Given the description of an element on the screen output the (x, y) to click on. 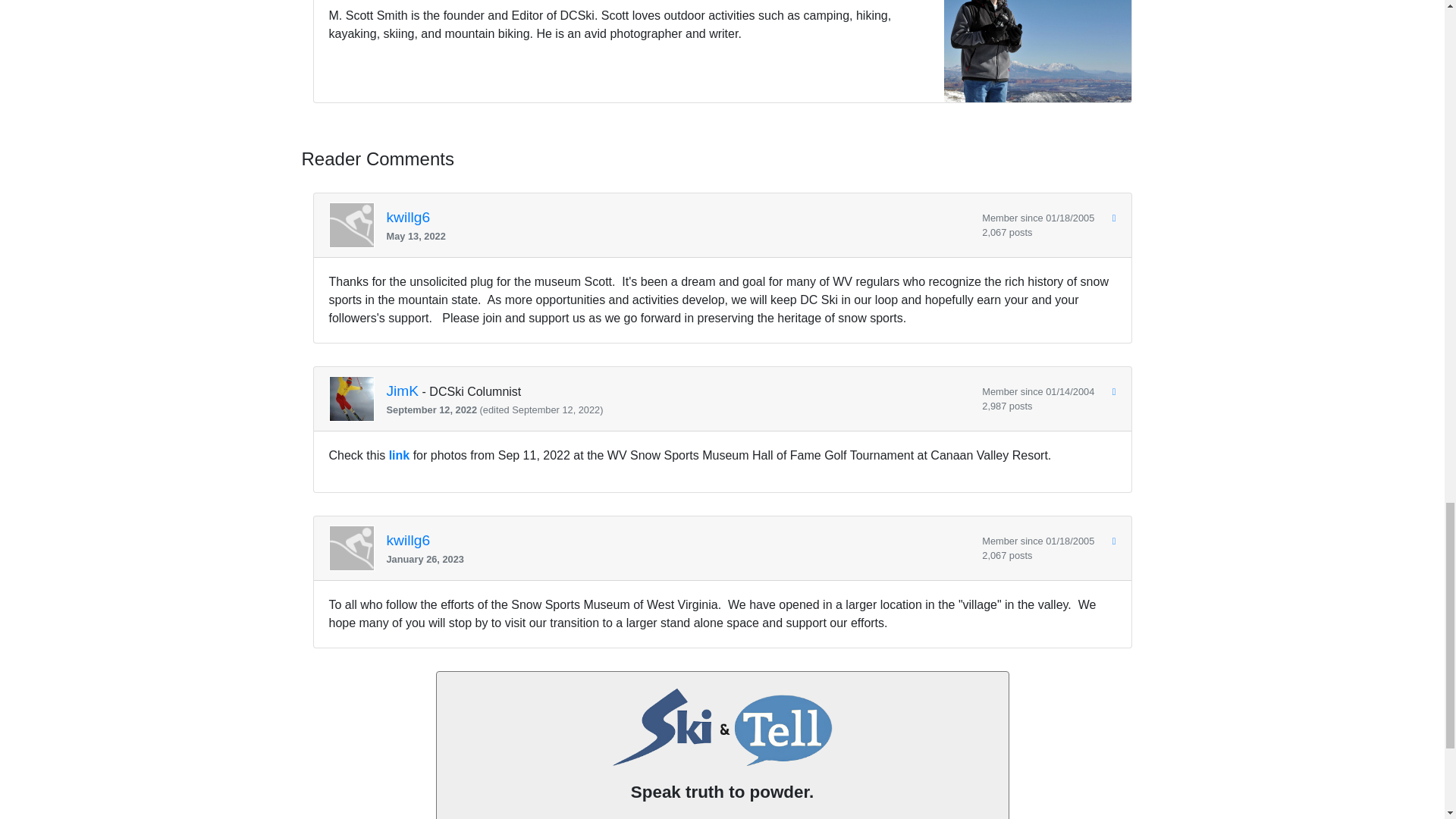
January 26, 2023 at 08:17 pm (679, 559)
kwillg6 (408, 540)
JimK (403, 391)
September 12, 2022 at 09:32 am (679, 409)
May 13, 2022 at 09:41 pm (679, 236)
kwillg6 (408, 217)
link (399, 454)
